Given the description of an element on the screen output the (x, y) to click on. 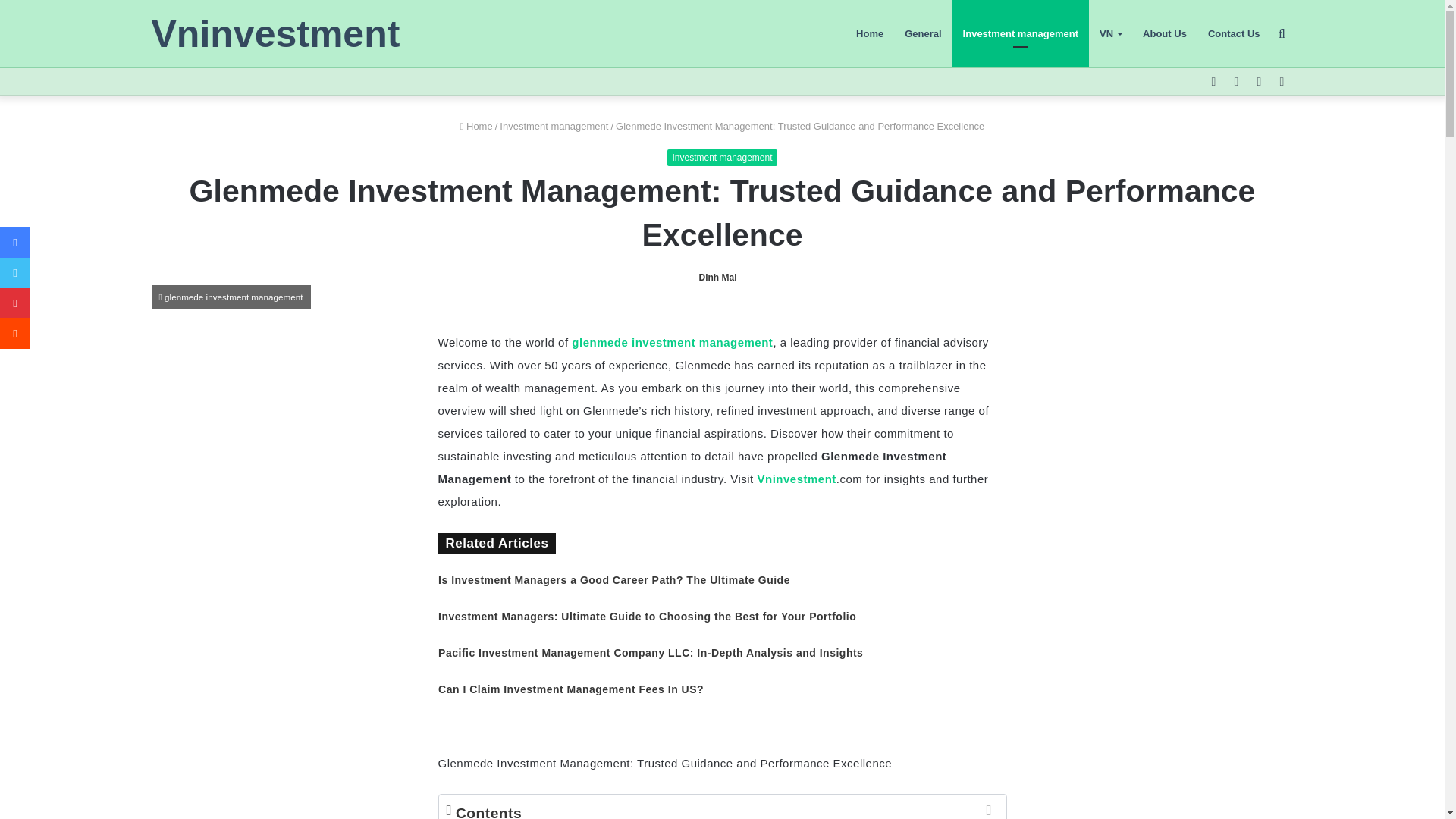
Dinh Mai (717, 276)
Pinterest (15, 303)
Vninvestment (275, 34)
Twitter (15, 272)
Can I Claim Investment Management Fees In US? (570, 689)
About Us (1164, 33)
Dinh Mai (717, 276)
Vninvestment (275, 34)
Investment management (721, 157)
Vninvestment (796, 478)
Home (476, 125)
Facebook (15, 242)
Investment management (1020, 33)
